Given the description of an element on the screen output the (x, y) to click on. 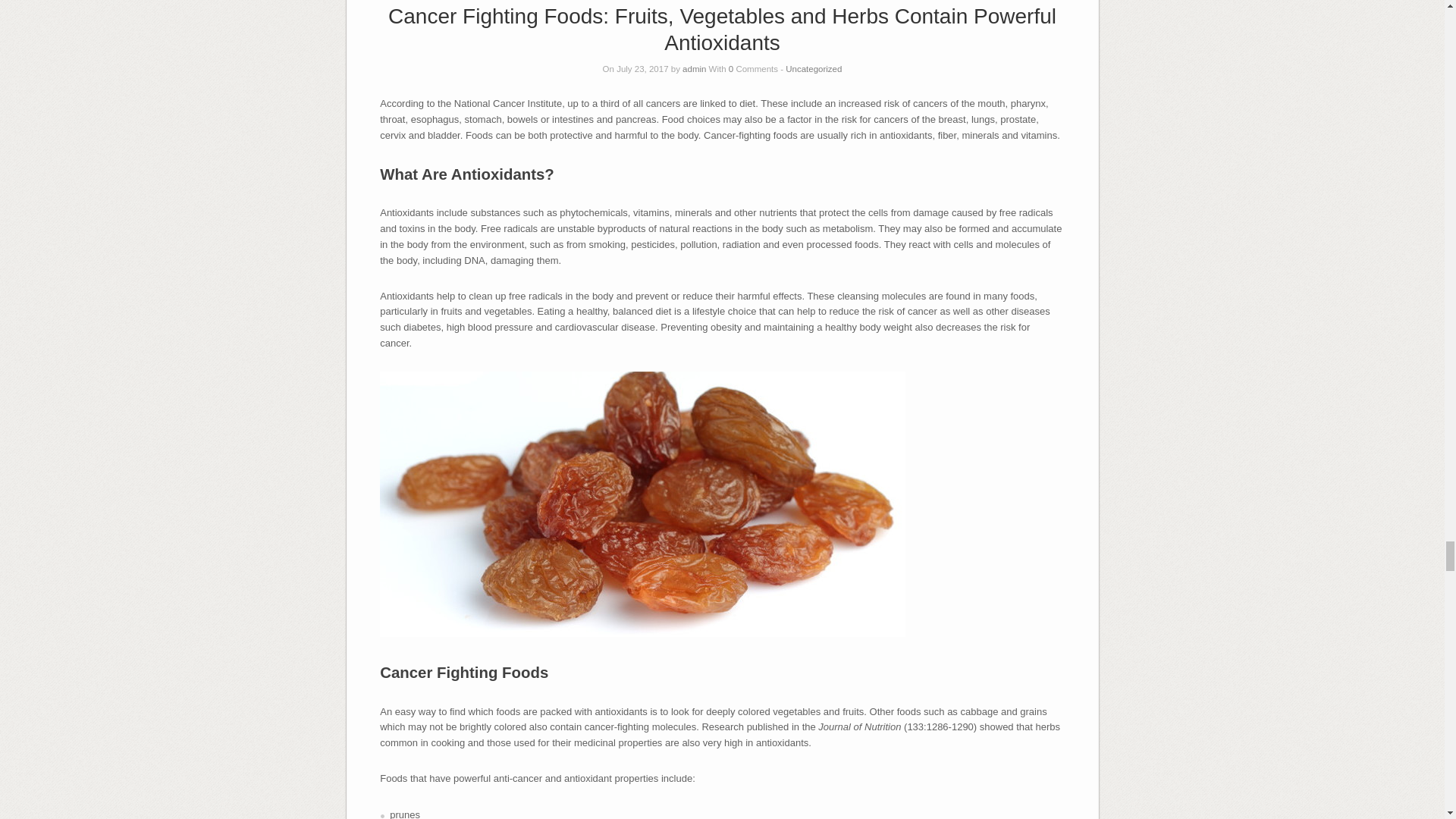
admin (694, 67)
Uncategorized (813, 67)
